Given the description of an element on the screen output the (x, y) to click on. 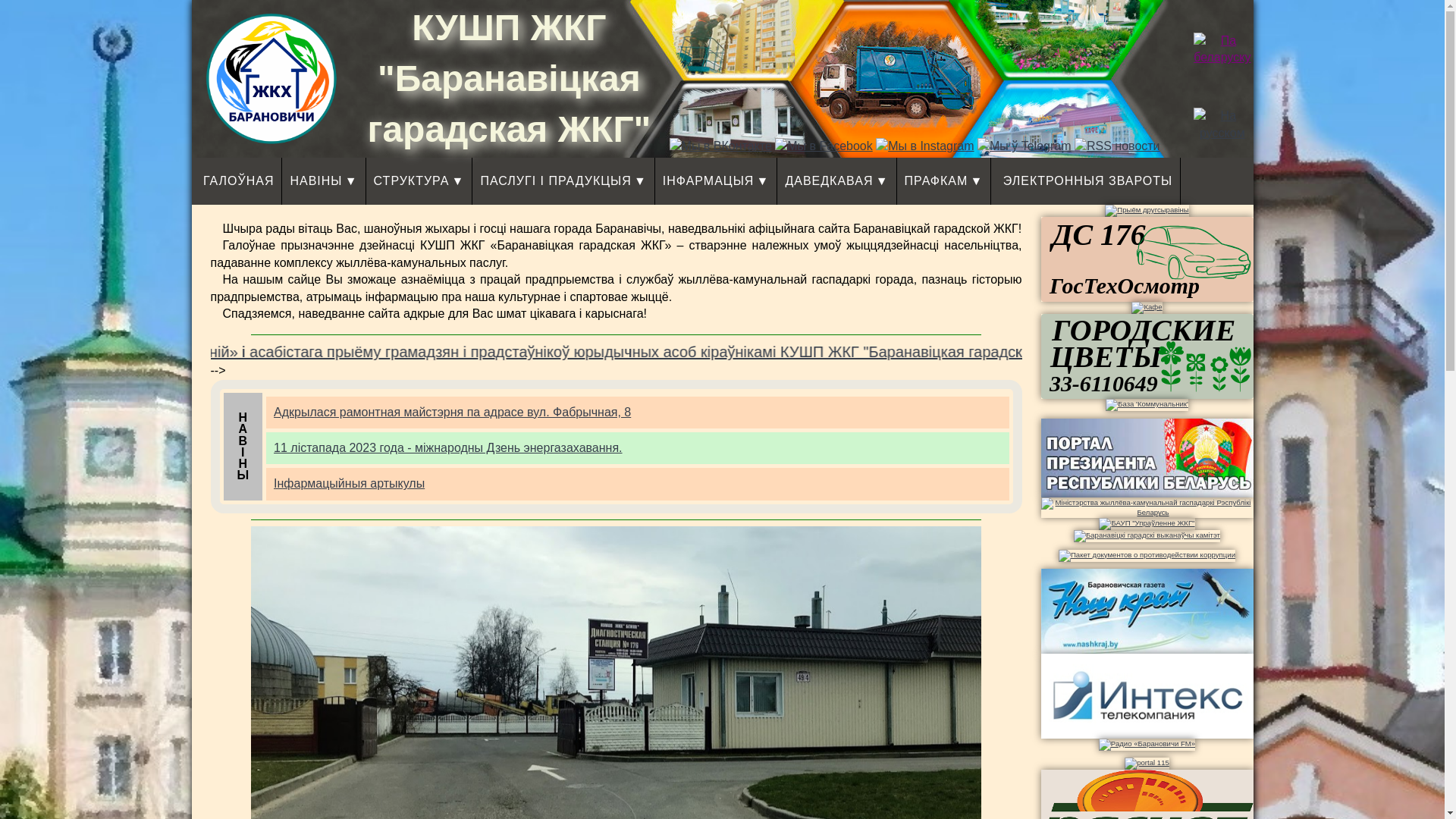
Facebook Element type: hover (823, 145)
Telegram Element type: hover (1024, 145)
Instagram Element type: hover (924, 145)
